Given the description of an element on the screen output the (x, y) to click on. 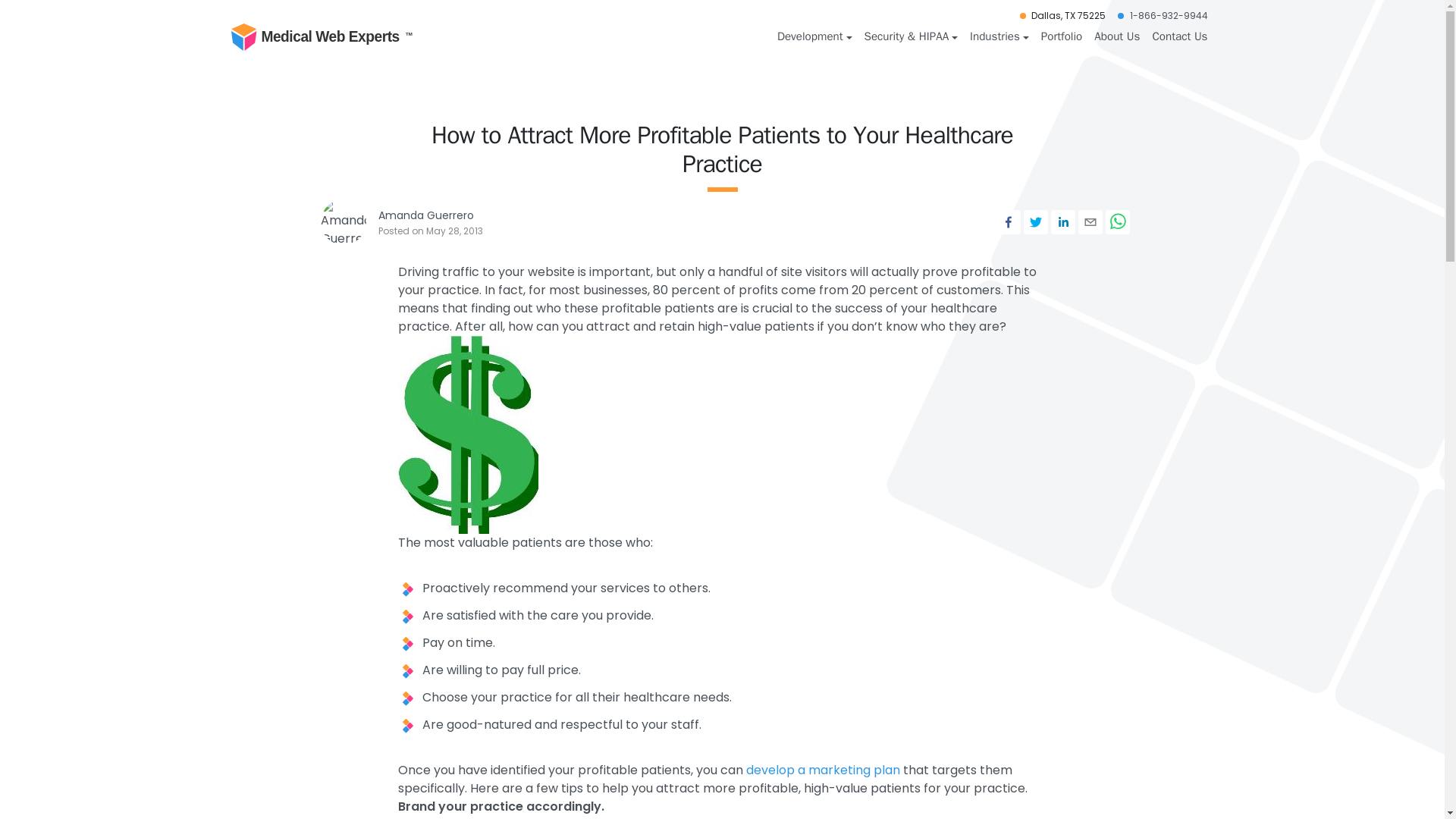
About Us (1116, 36)
Dallas, TX 75225 (1067, 15)
Amanda Guerrero (425, 215)
Development (815, 36)
Industries (999, 36)
Portfolio (1062, 36)
Internet marketing (822, 769)
Contact Us (1178, 36)
develop a marketing plan (822, 769)
